Given the description of an element on the screen output the (x, y) to click on. 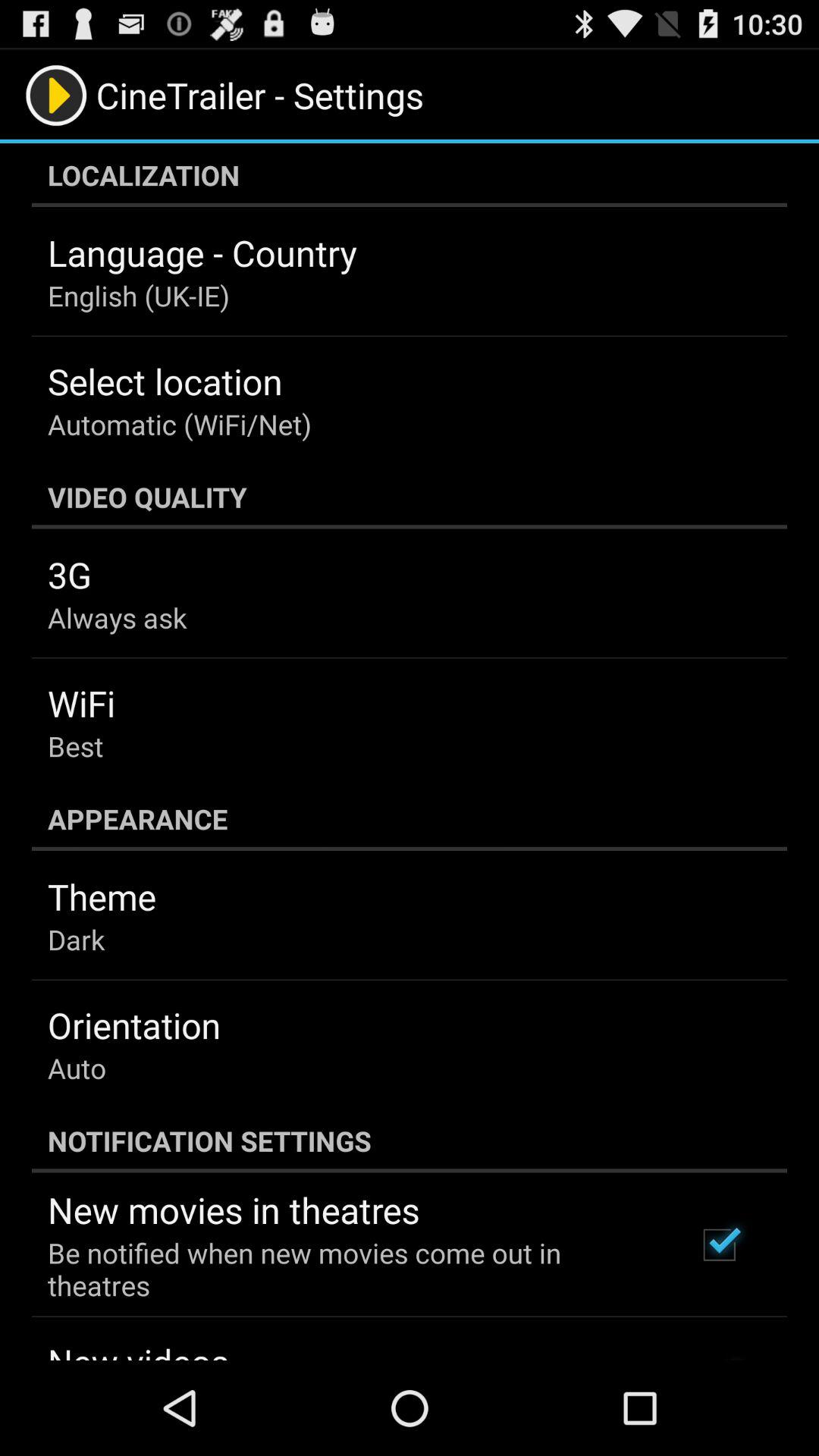
launch select location item (164, 381)
